Given the description of an element on the screen output the (x, y) to click on. 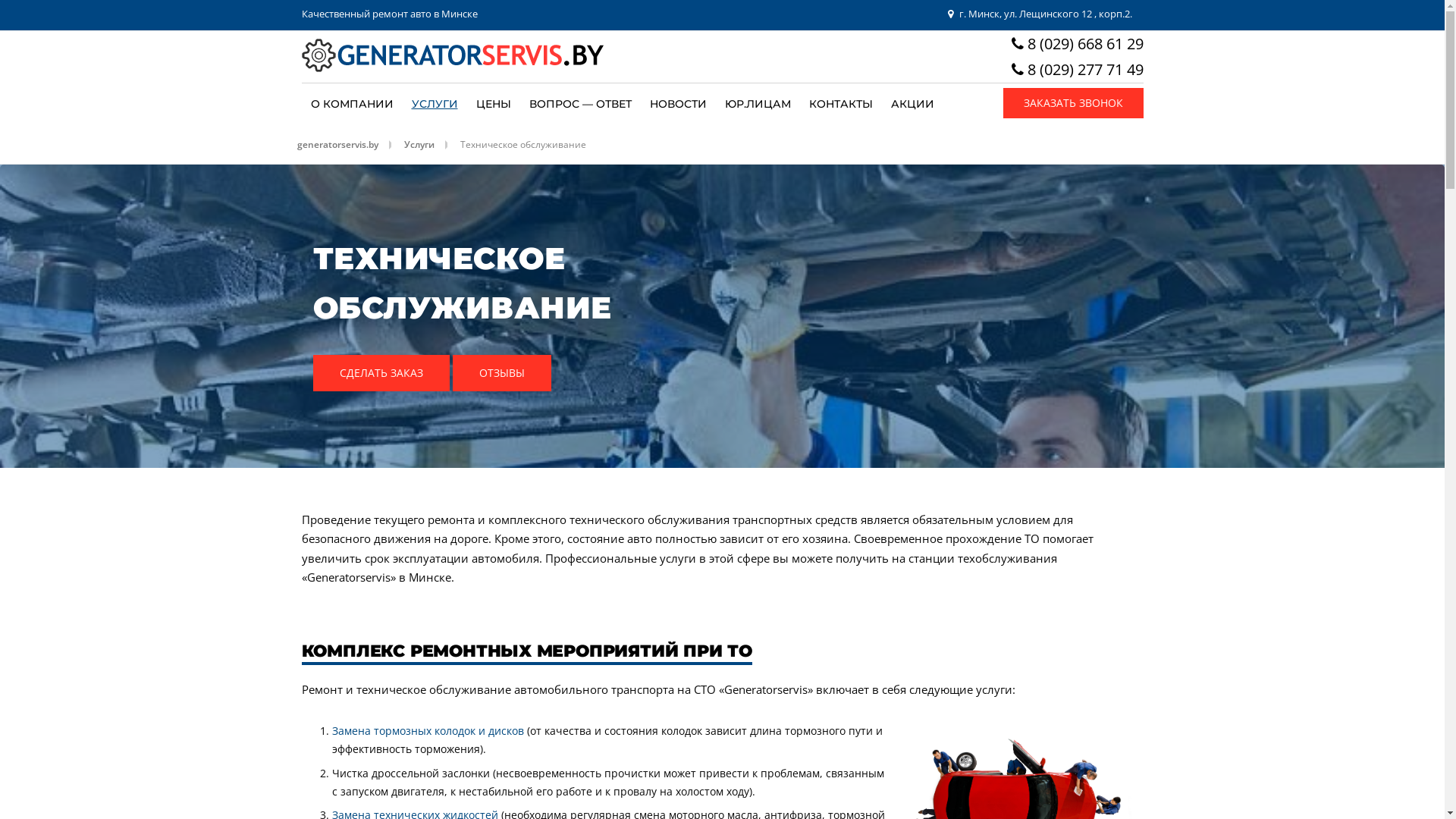
Skip to content Element type: text (37, 9)
generatorservis.by Element type: hover (453, 51)
generatorservis.by Element type: text (345, 144)
